Given the description of an element on the screen output the (x, y) to click on. 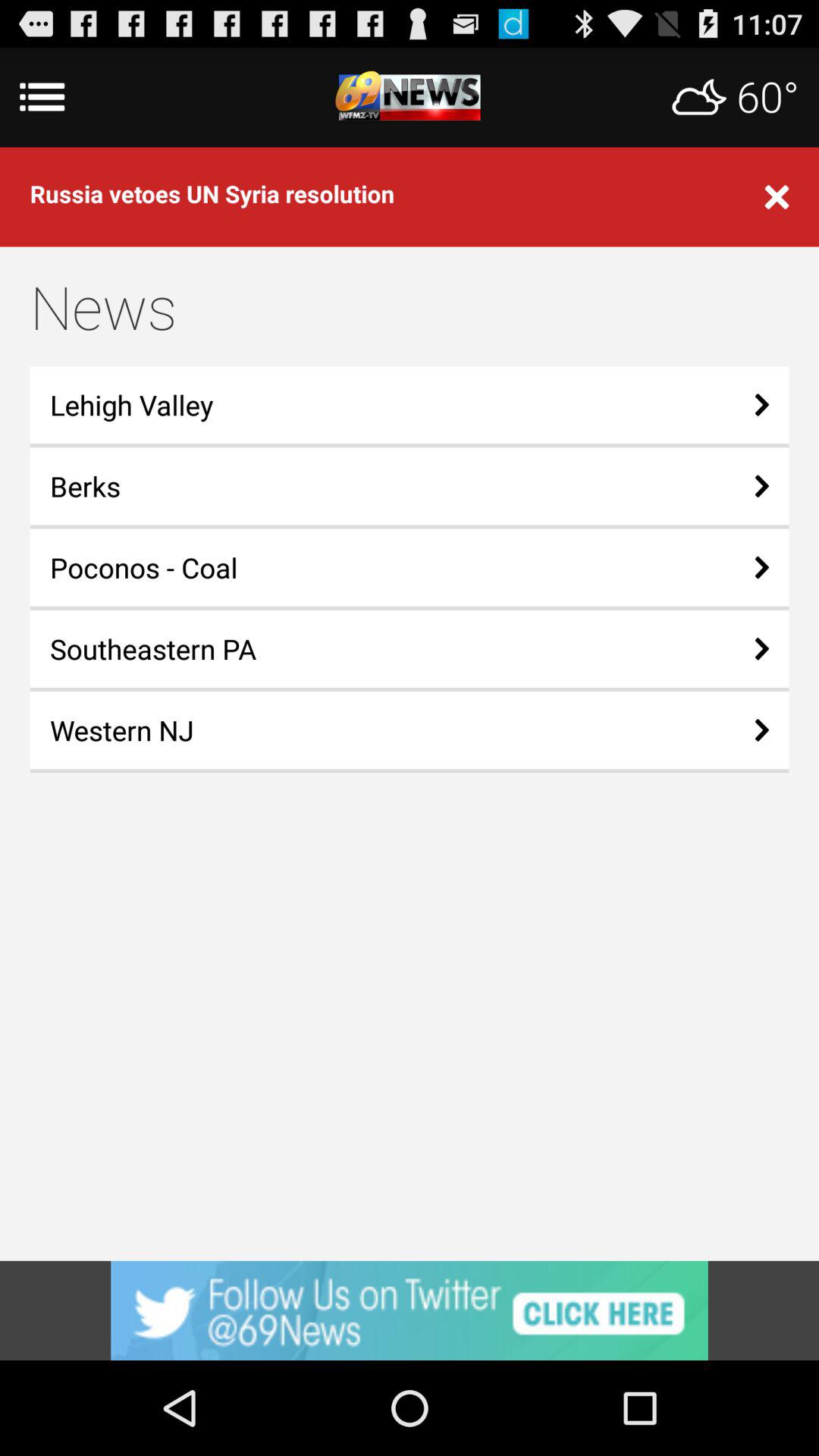
advertisement cloud news (409, 97)
